Given the description of an element on the screen output the (x, y) to click on. 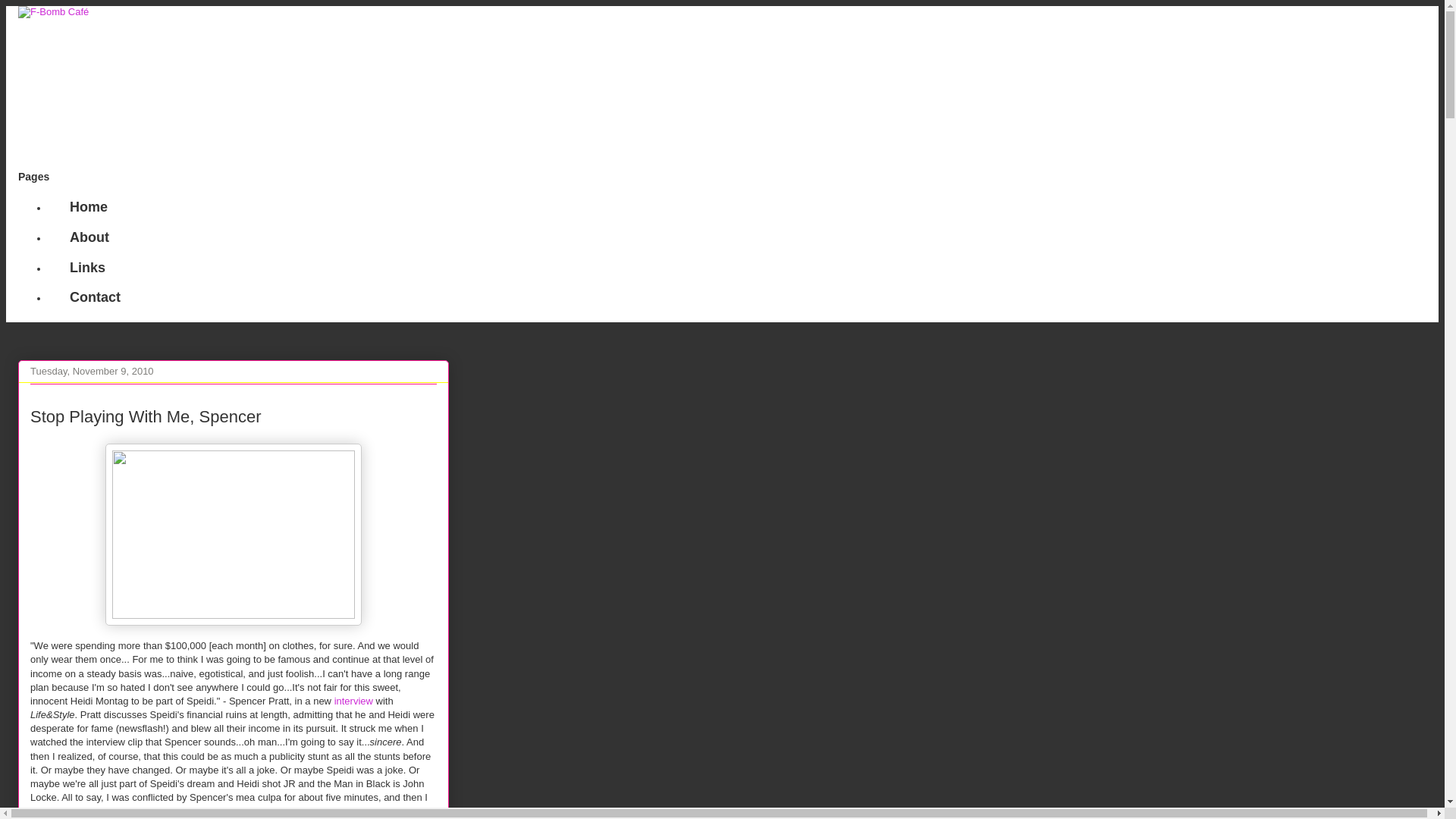
Links (86, 267)
interview (353, 700)
Stop Playing With Me, Spencer (145, 416)
Home (88, 207)
Contact (94, 296)
About (88, 236)
interview (86, 810)
